Given the description of an element on the screen output the (x, y) to click on. 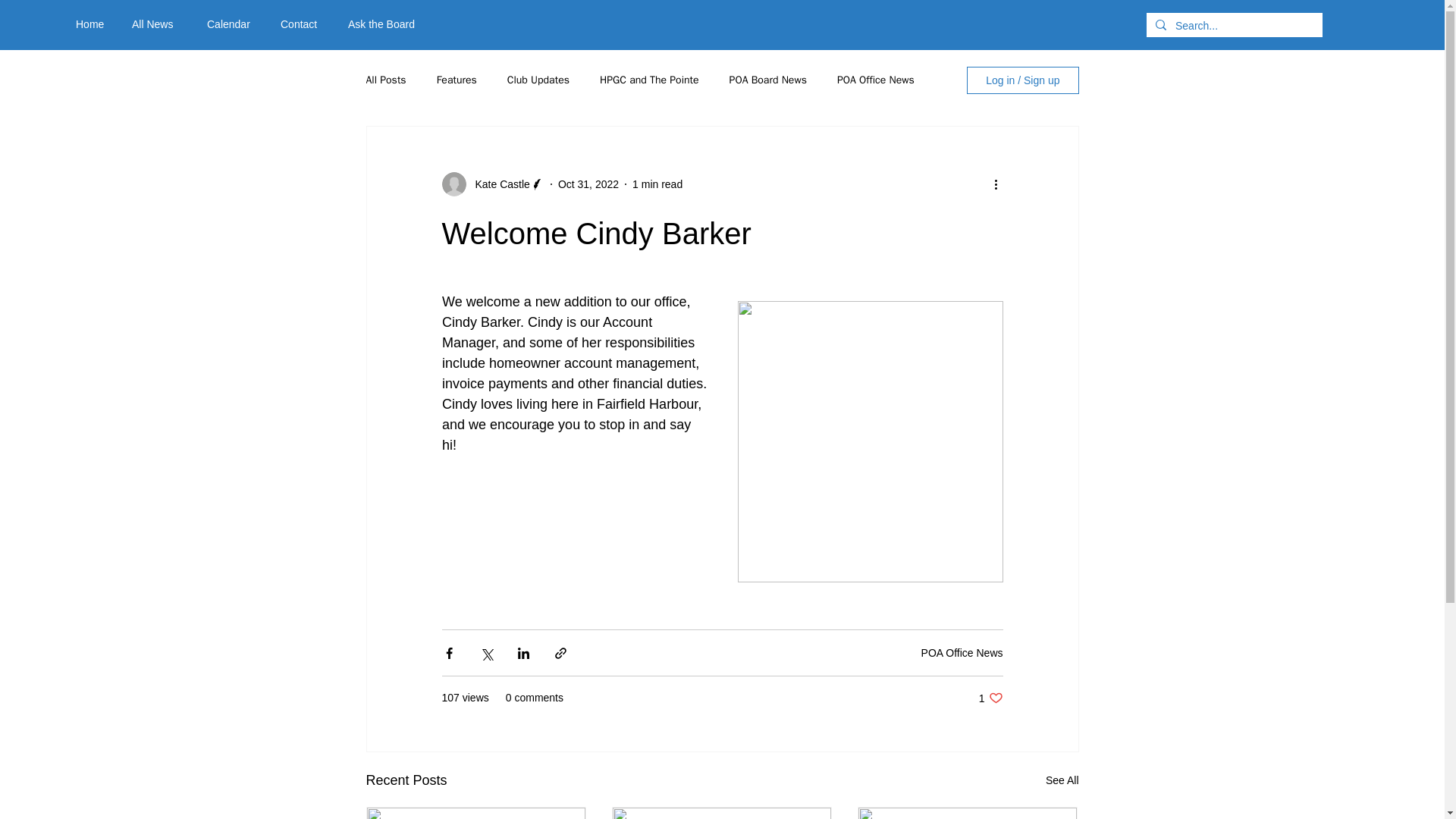
1 min read (656, 183)
All Posts (385, 79)
Home (990, 698)
Club Updates (92, 24)
Oct 31, 2022 (537, 79)
Calendar (587, 183)
HPGC and The Pointe (232, 24)
POA Board News (648, 79)
POA Office News (767, 79)
